Given the description of an element on the screen output the (x, y) to click on. 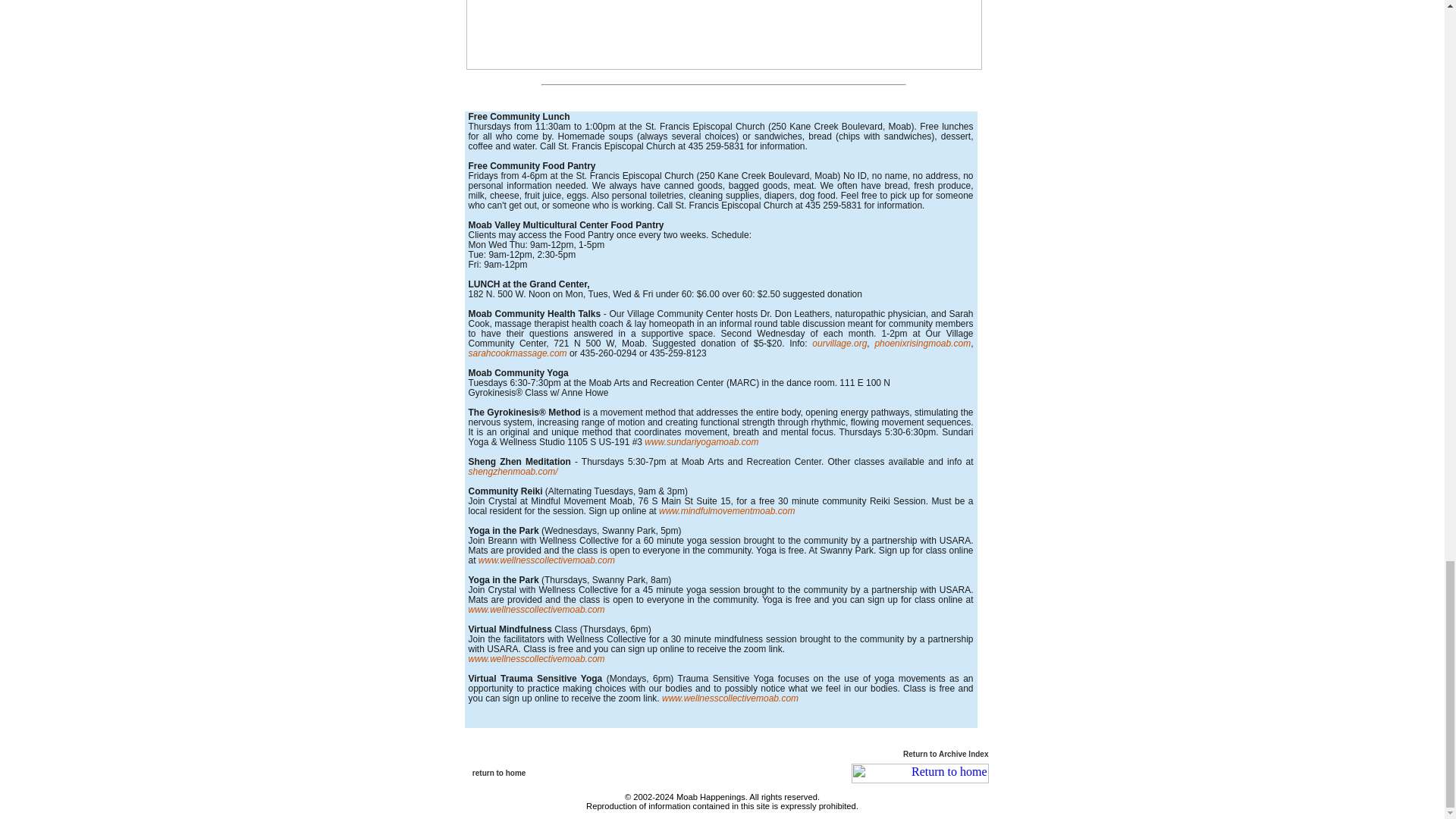
www.wellnesscollectivemoab.com (729, 697)
Return to Archive Index (945, 754)
www.wellnesscollectivemoab.com (536, 609)
www.sundariyogamoab.com (701, 441)
www.mindfulmovementmoab.com (726, 511)
phoenixrisingmoab.com (923, 343)
www.wellnesscollectivemoab.com (536, 658)
www.wellnesscollectivemoab.com (545, 560)
ourvillage.org (839, 343)
sarahcookmassage.com (517, 353)
